Given the description of an element on the screen output the (x, y) to click on. 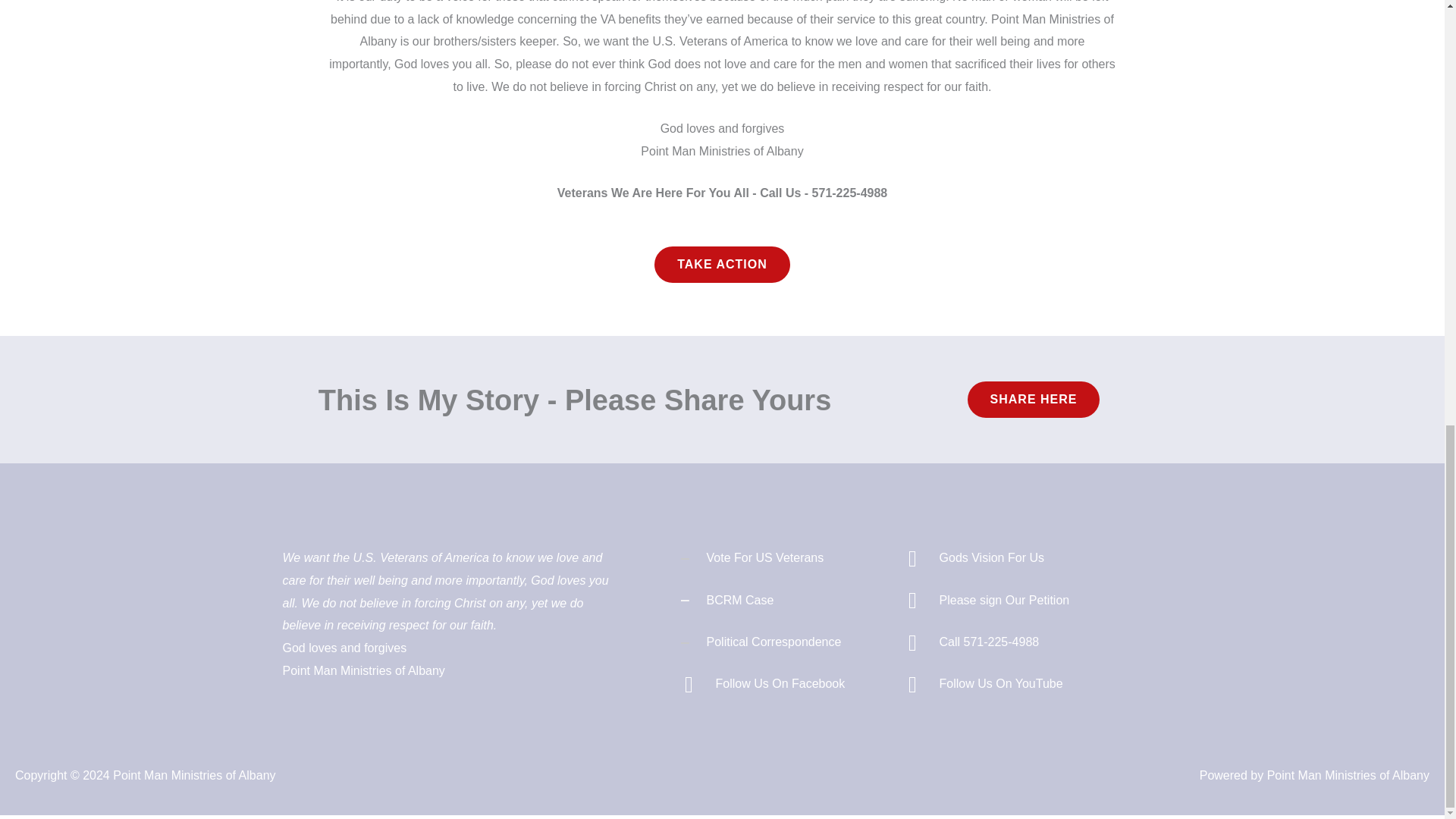
TAKE ACTION (721, 264)
Please sign Our Petition (1004, 599)
BCRM Case (740, 599)
Click Here (721, 264)
Vote For US Veterans (765, 557)
SHARE HERE (1034, 399)
Political Correspondence (773, 641)
Click Here (1034, 399)
Gods Vision For Us (991, 557)
